Given the description of an element on the screen output the (x, y) to click on. 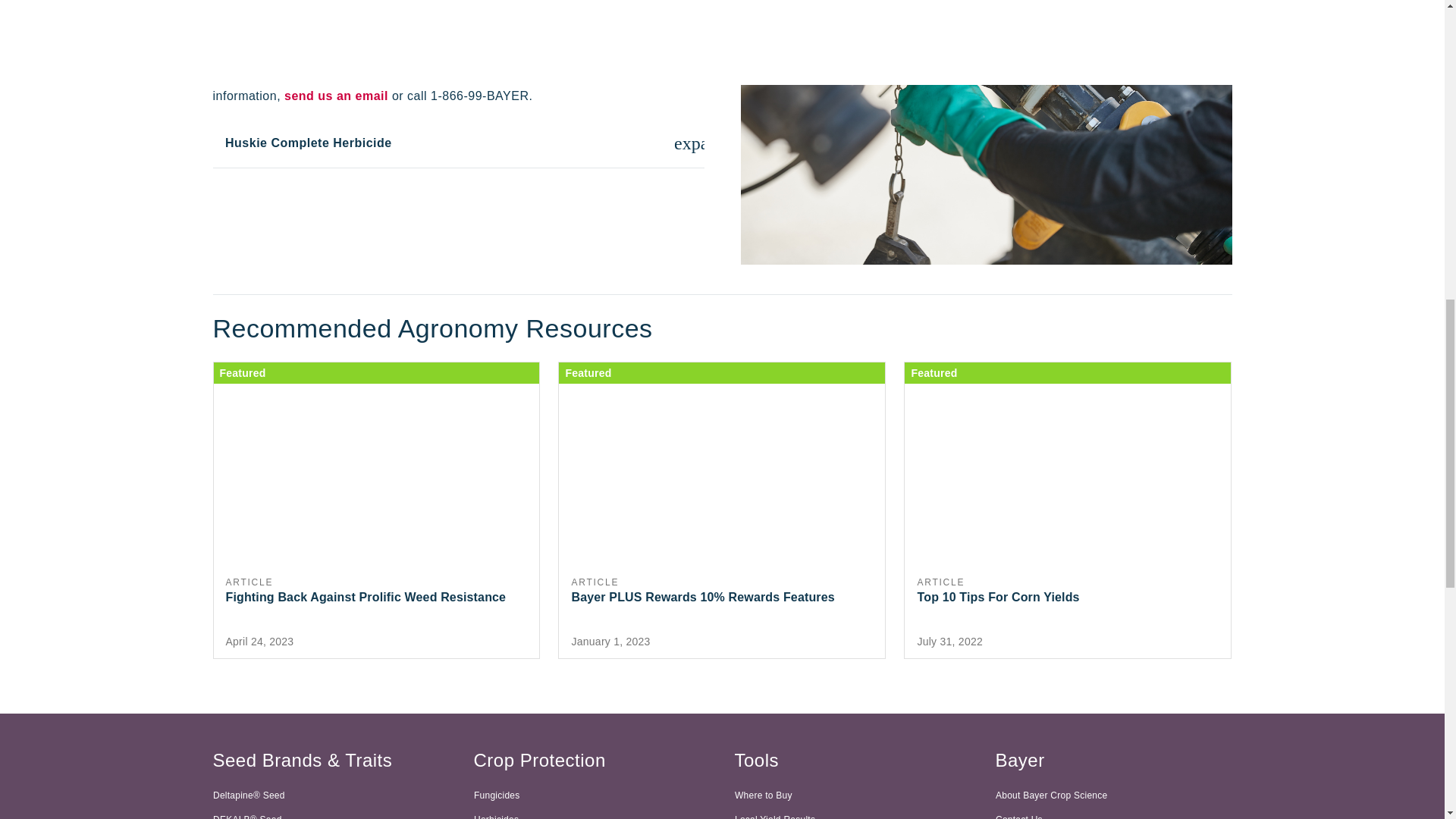
Fungicides (591, 794)
Local Yield Results (852, 813)
Where to Buy (852, 794)
 send us an email  (336, 95)
Contact Us (1067, 510)
Herbicides (1112, 813)
About Bayer Crop Science (591, 813)
